Given the description of an element on the screen output the (x, y) to click on. 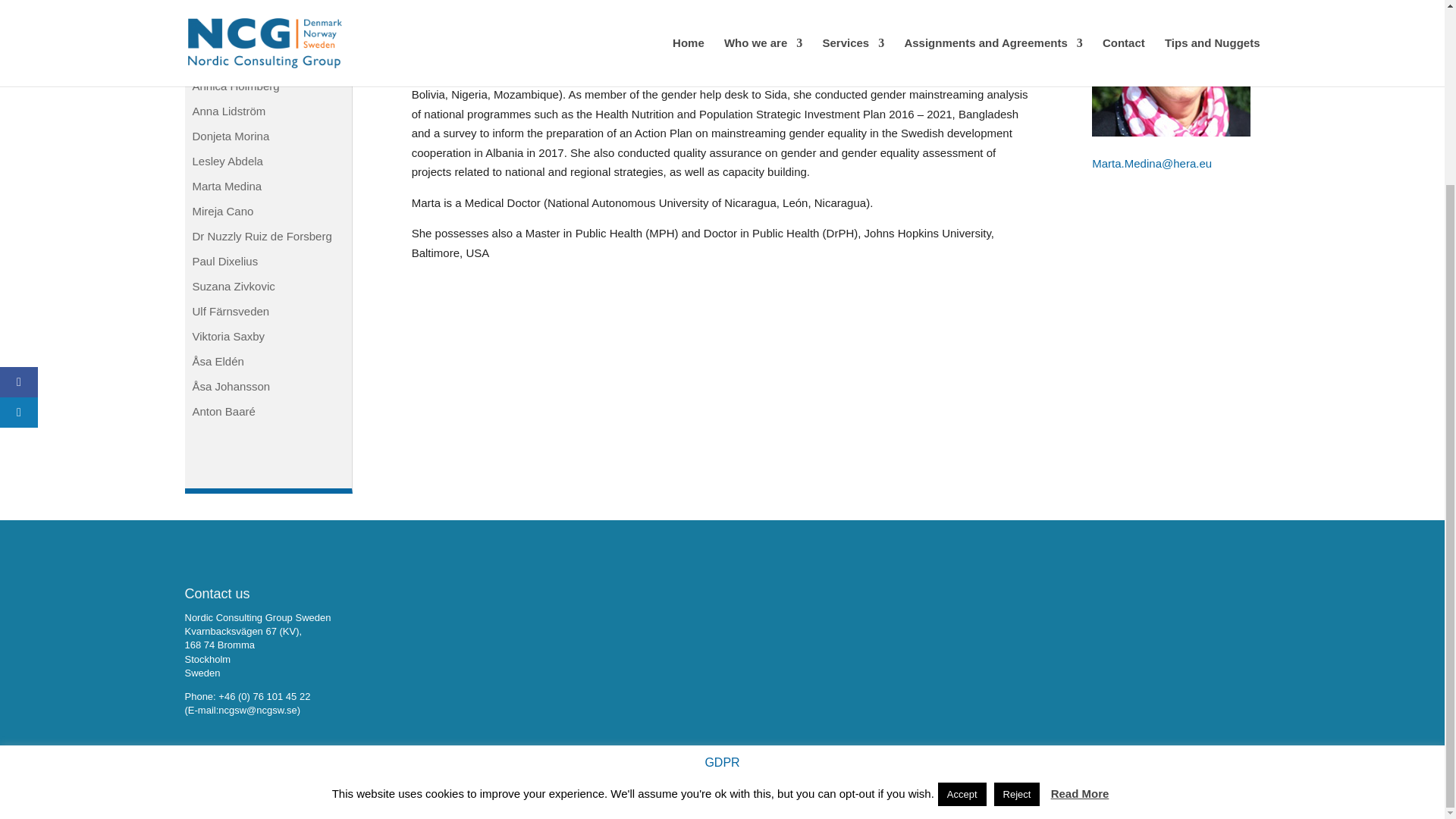
beethalin.se (299, 797)
